Given the description of an element on the screen output the (x, y) to click on. 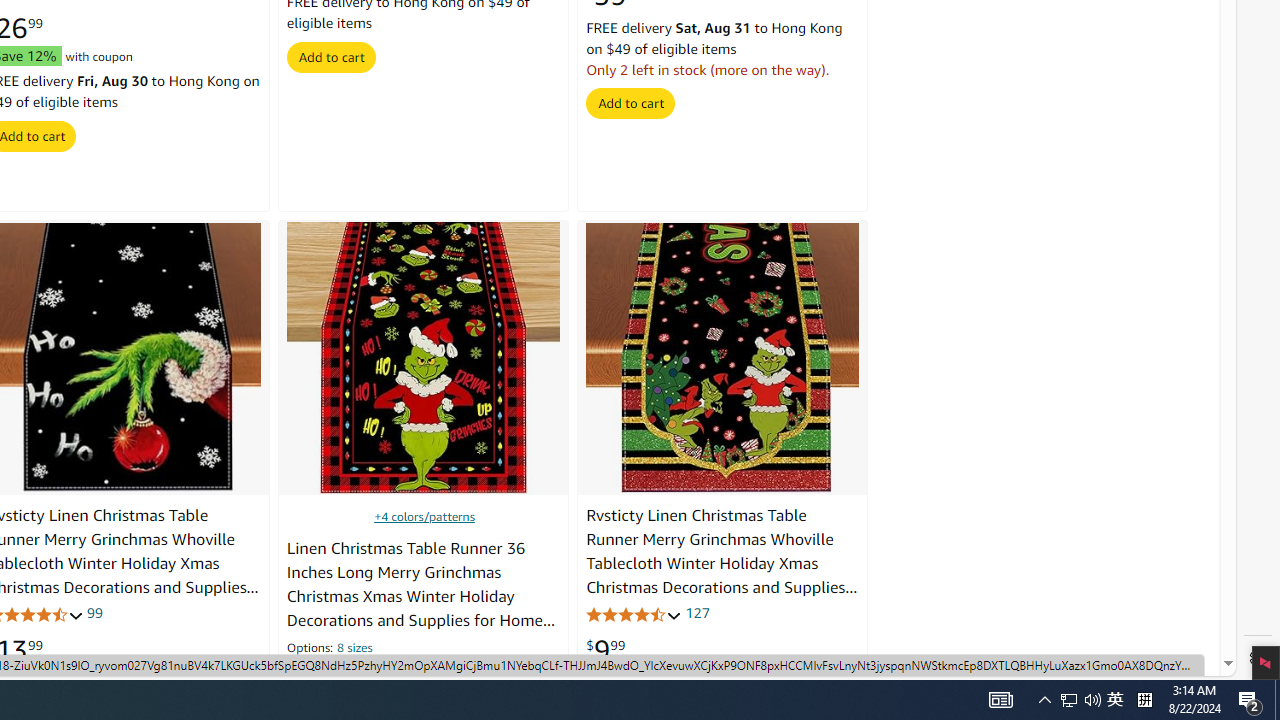
Add to cart (630, 102)
